Given the description of an element on the screen output the (x, y) to click on. 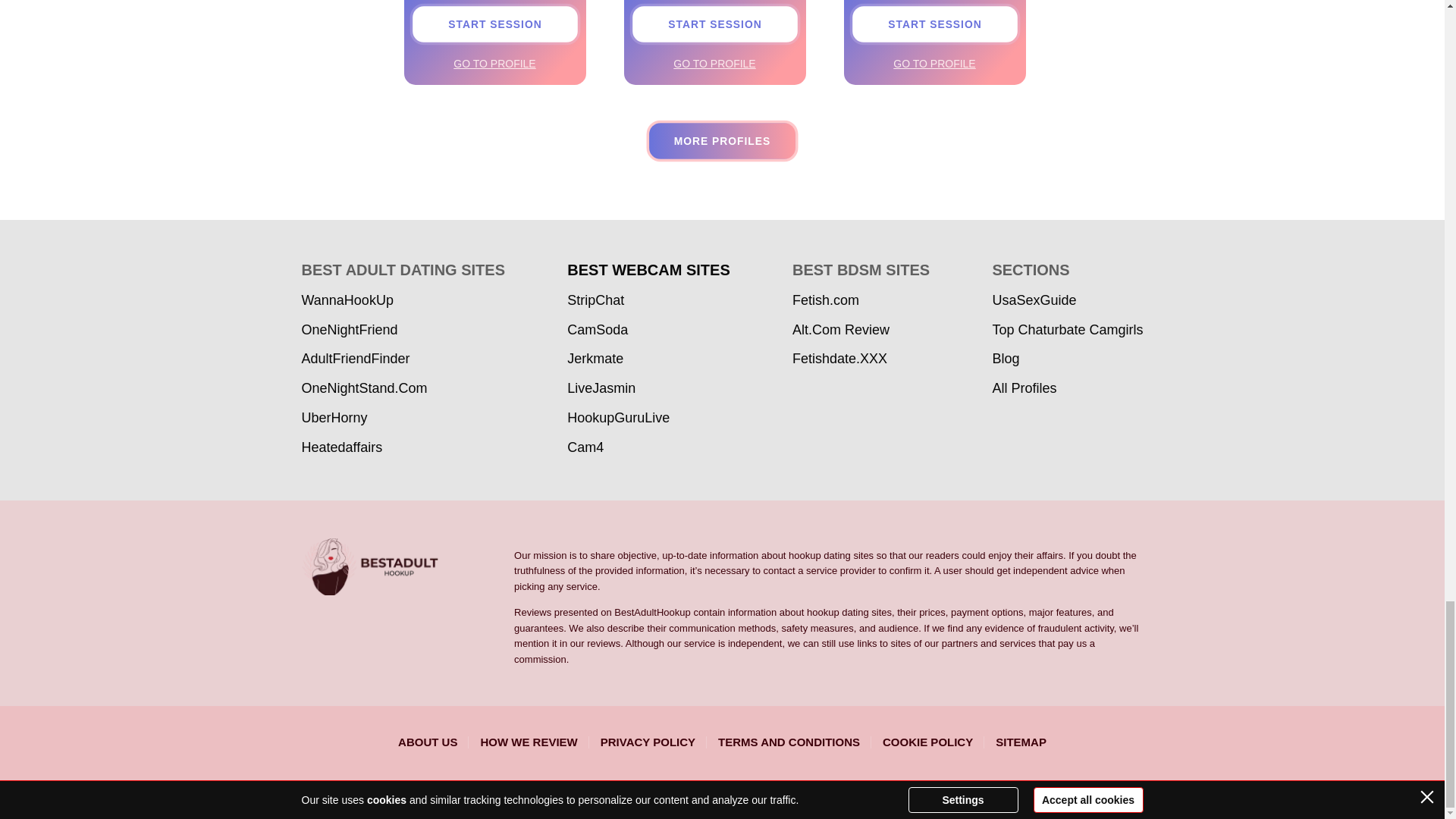
GO TO PROFILE (713, 63)
GO TO PROFILE (934, 63)
Best Adult Hookup Sites (408, 565)
MORE PROFILES (723, 140)
GO TO PROFILE (493, 63)
